Given the description of an element on the screen output the (x, y) to click on. 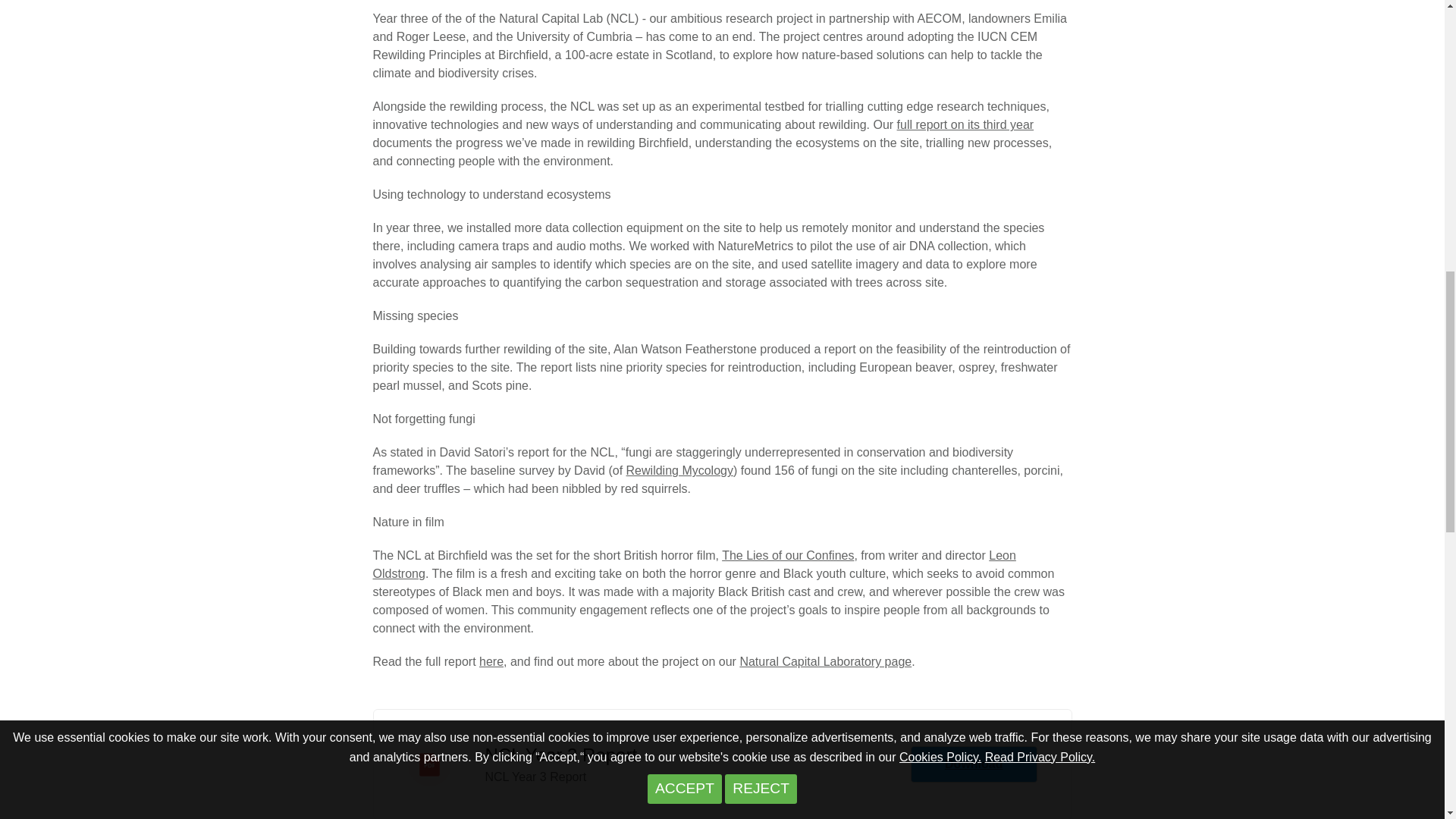
The Lies of our Confines (787, 554)
Download (973, 764)
full report on its third year (964, 124)
here (491, 661)
Natural Capital Laboratory page (825, 661)
Rewilding Mycology (679, 470)
Leon Oldstrong (694, 563)
